Given the description of an element on the screen output the (x, y) to click on. 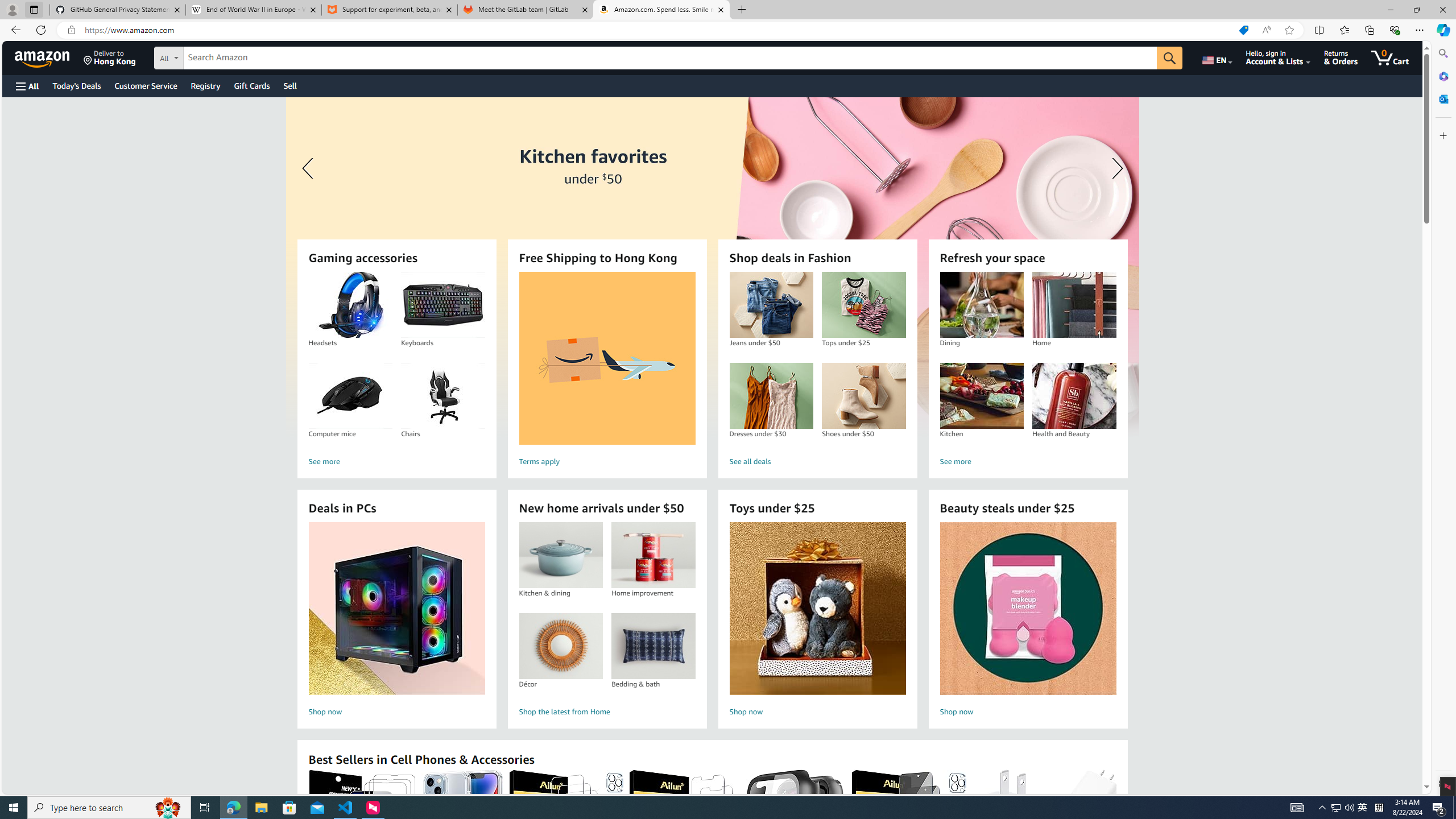
Gift Cards (251, 85)
Dresses under $30 (771, 395)
Dining (981, 304)
Today's Deals (76, 85)
Tops under $25 (863, 304)
Computer mice (350, 395)
